Given the description of an element on the screen output the (x, y) to click on. 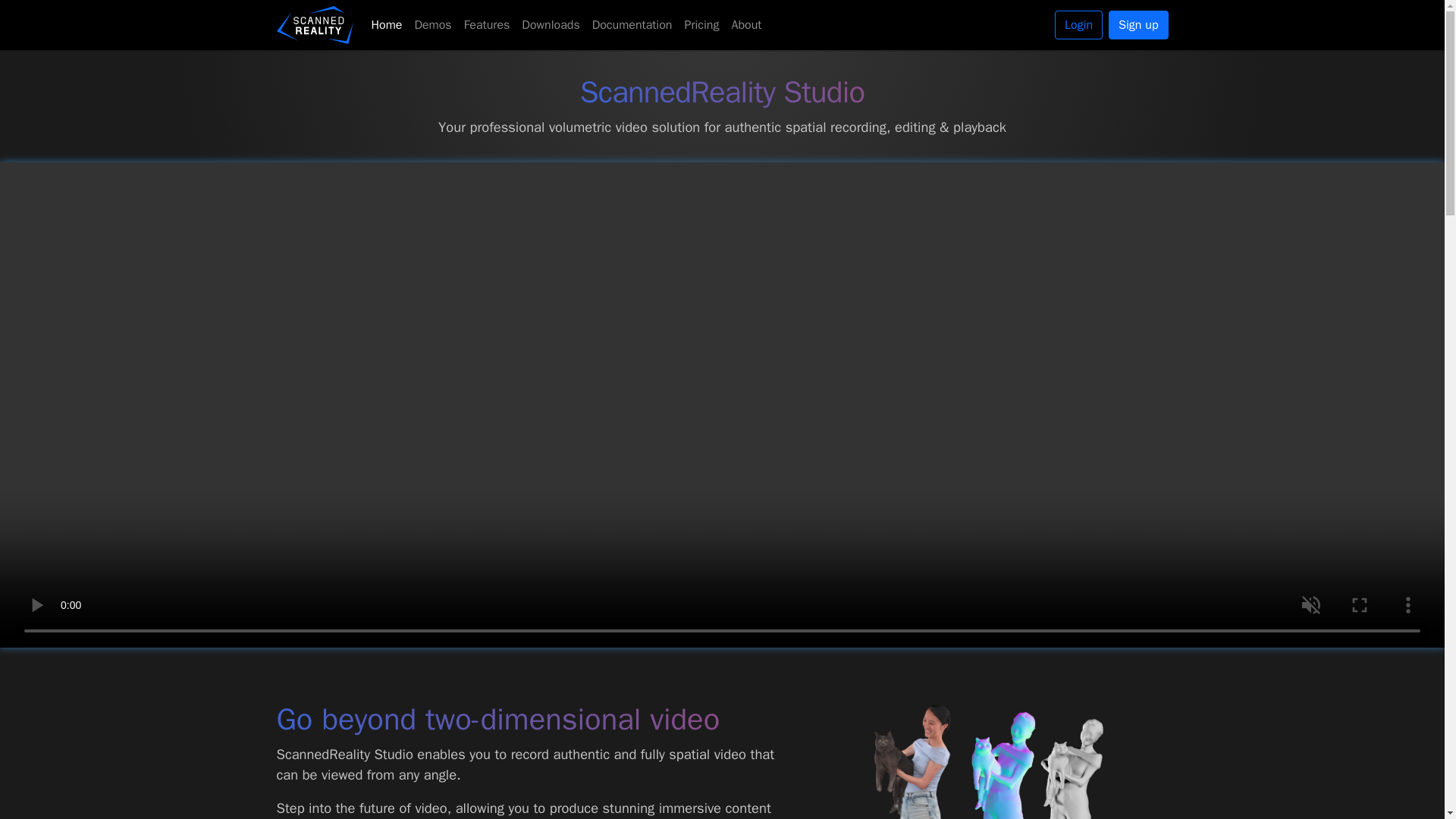
Features (487, 24)
Home (387, 24)
Login (1078, 24)
Demos (432, 24)
Downloads (550, 24)
Documentation (632, 24)
About (746, 24)
Pricing (701, 24)
Sign up (1137, 24)
